Given the description of an element on the screen output the (x, y) to click on. 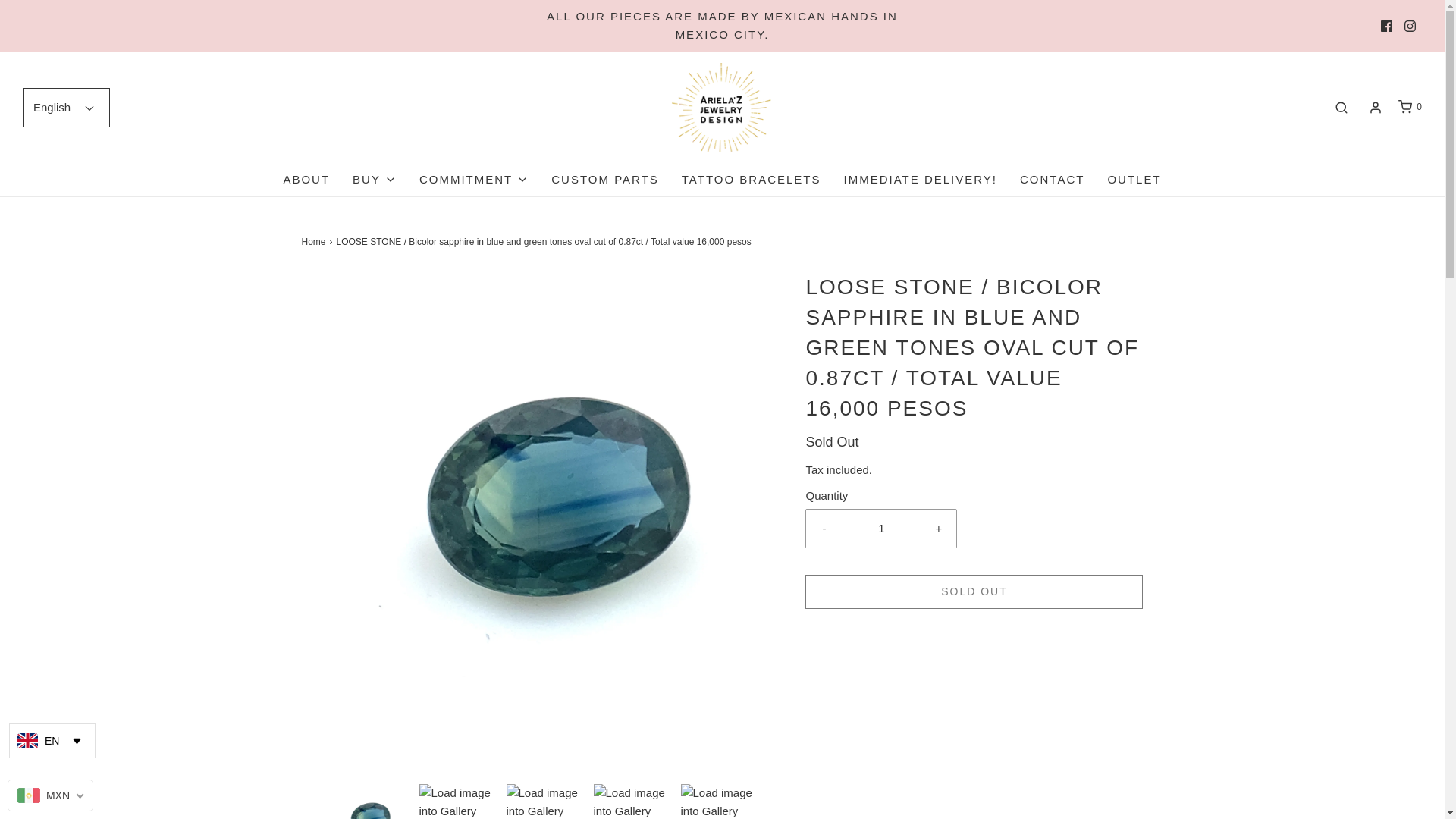
Search (1341, 107)
INSTAGRAM ICON (1409, 24)
Cart (1409, 106)
Log in (1375, 107)
Back to the frontpage (315, 242)
FACEBOOK ICON (1385, 24)
INSTAGRAM ICON (1410, 25)
FACEBOOK ICON (1385, 25)
1 (881, 528)
